Given the description of an element on the screen output the (x, y) to click on. 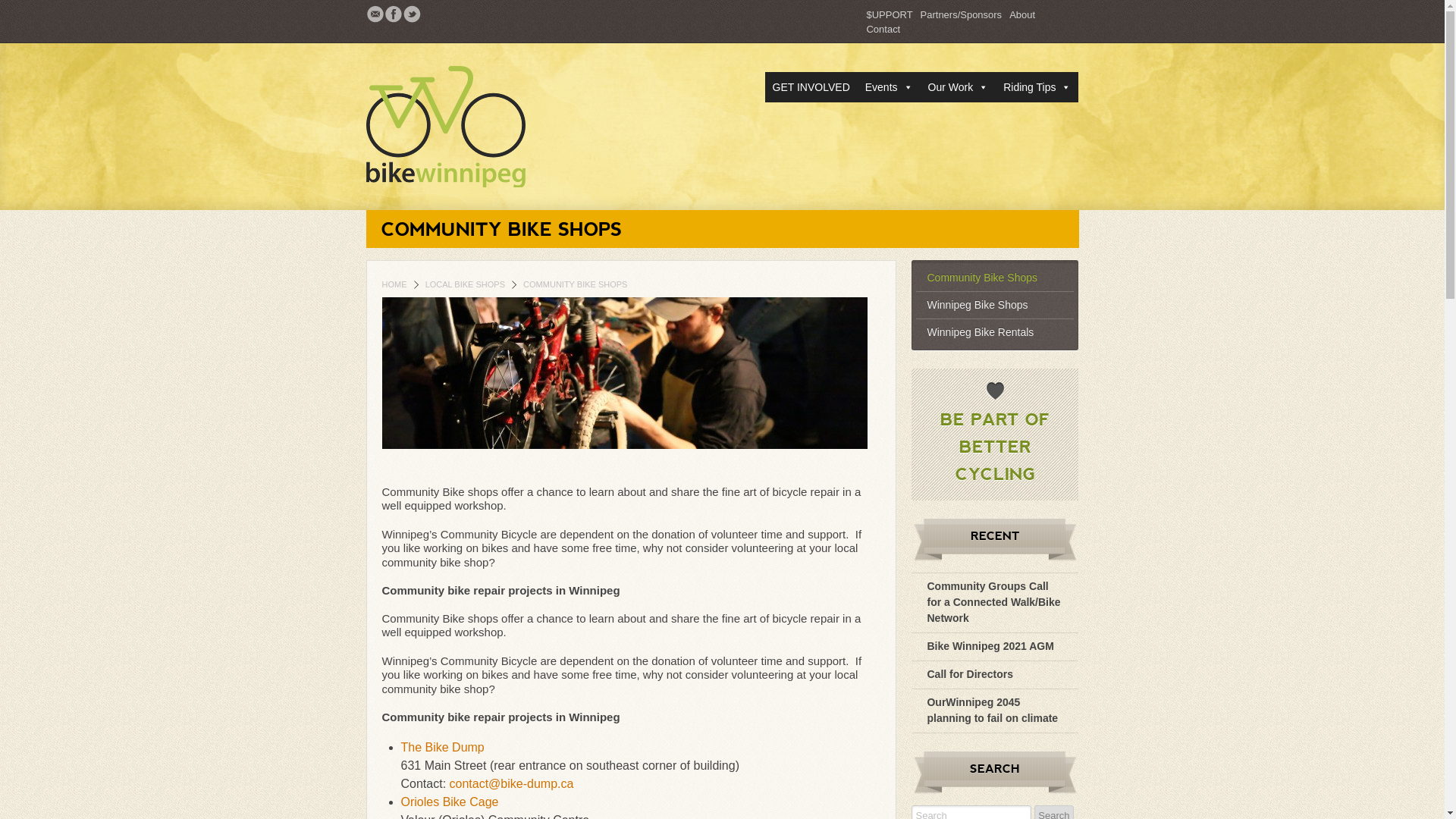
Riding Tips Element type: text (1036, 87)
$UPPORT Element type: text (889, 14)
Events Element type: text (888, 87)
Community Groups Call for a Connected Walk/Bike Network Element type: text (993, 602)
Winnipeg Bike Shops Element type: text (994, 304)
HOME Element type: text (394, 283)
Our Work Element type: text (958, 87)
Bike Winnipeg 2021 AGM Element type: text (989, 646)
BE PART OF BETTER CYCLING Element type: text (994, 445)
OurWinnipeg 2045 planning to fail on climate Element type: text (991, 710)
Call for Directors Element type: text (969, 674)
GET INVOLVED Element type: text (811, 87)
Orioles Bike Cage Element type: text (449, 801)
Winnipeg Bike Rentals Element type: text (994, 331)
Bike Winnipeg Element type: hover (471, 126)
contact@bike-dump.ca Element type: text (511, 783)
The Bike Dump Element type: text (441, 746)
Partners/Sponsors Element type: text (961, 14)
About Element type: text (1022, 14)
Community Bike Shops Element type: text (994, 277)
Contact Element type: text (883, 28)
LOCAL BIKE SHOPS Element type: text (465, 283)
